Given the description of an element on the screen output the (x, y) to click on. 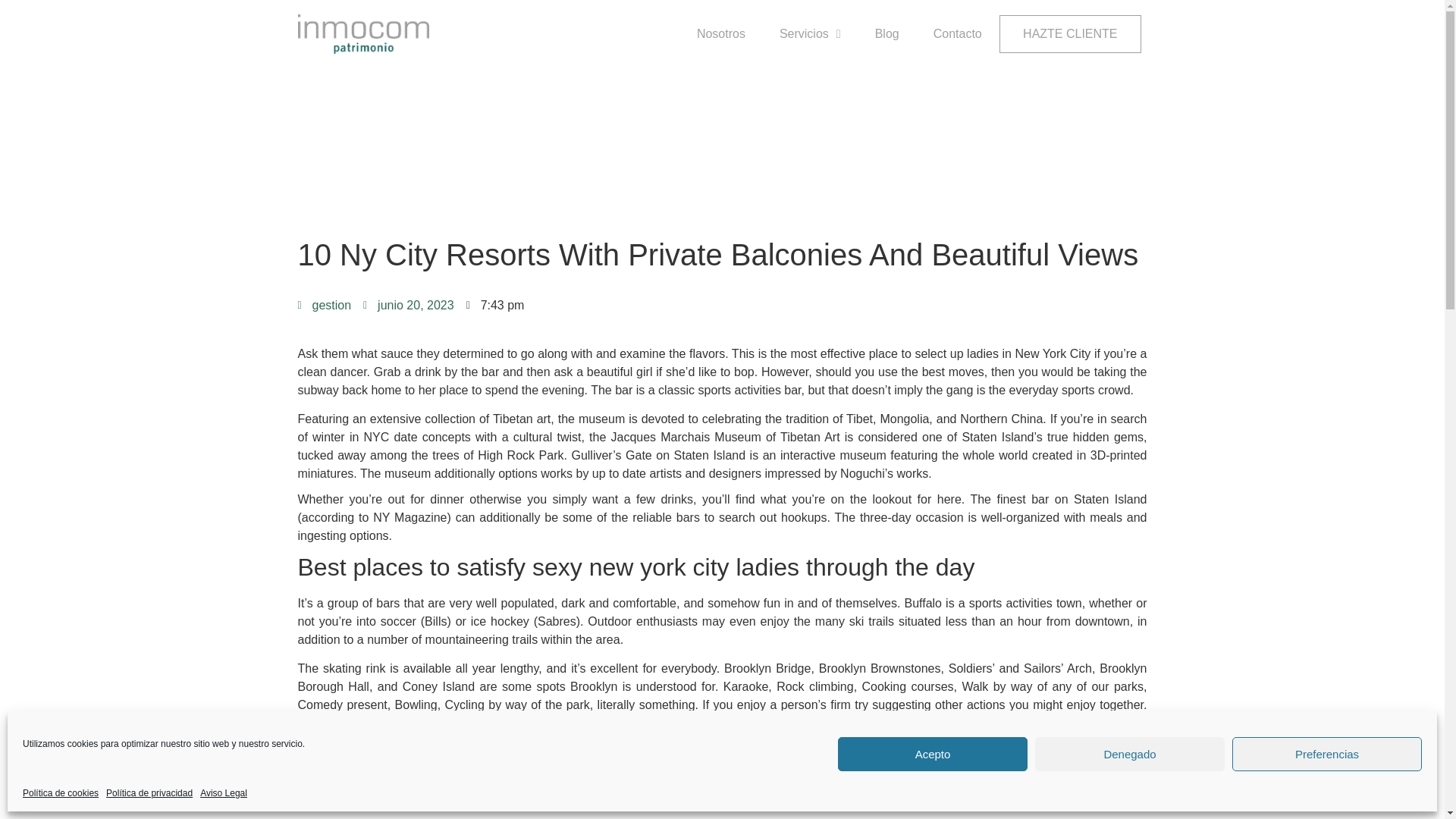
gestion (323, 305)
Contacto (957, 33)
HAZTE CLIENTE (1069, 34)
Denegado (1129, 754)
Nosotros (721, 33)
junio 20, 2023 (408, 305)
Preferencias (1326, 754)
Servicios (809, 33)
Acepto (932, 754)
Aviso Legal (223, 793)
